Given the description of an element on the screen output the (x, y) to click on. 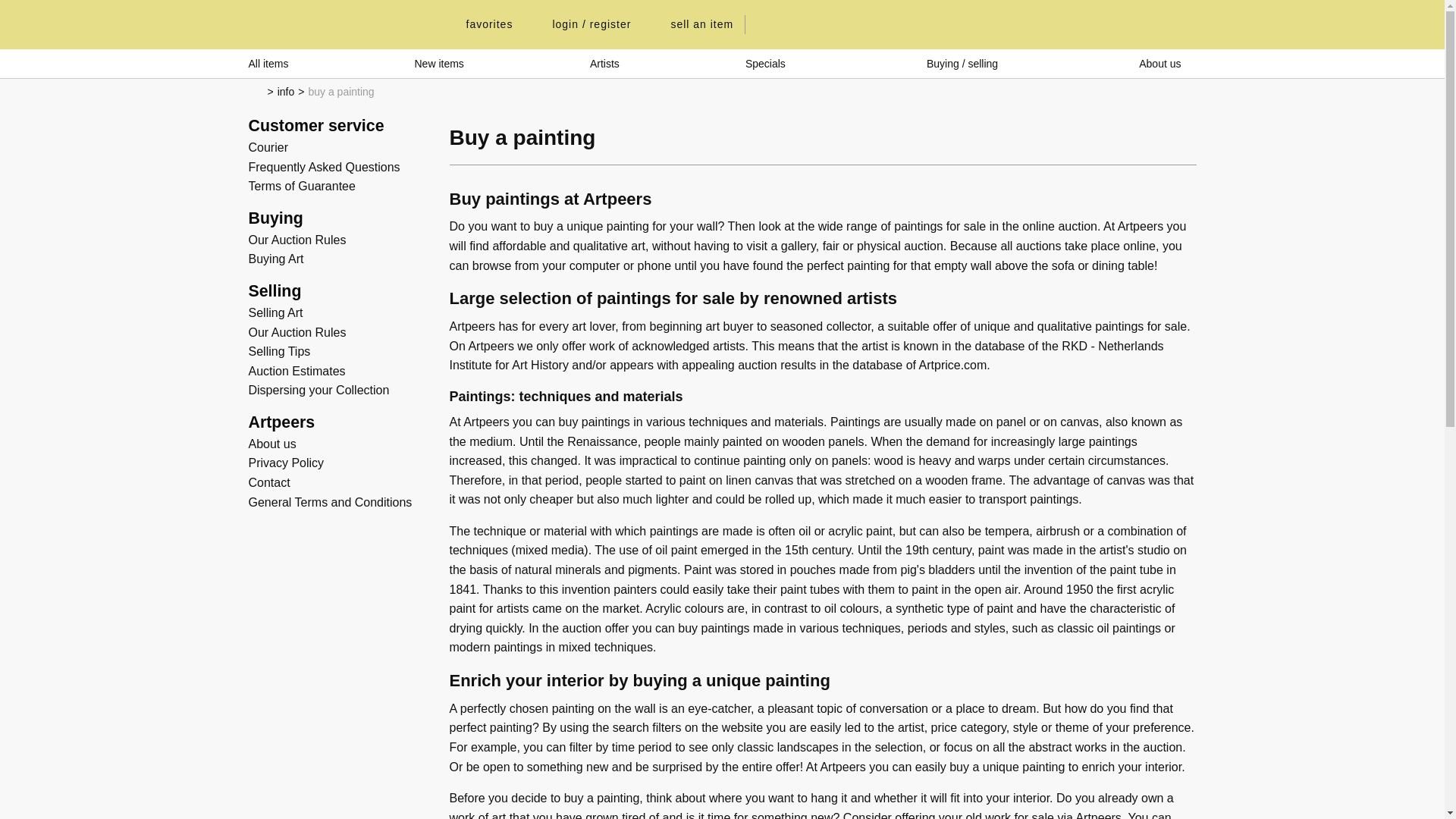
Selling Art (275, 312)
Buying Art (276, 258)
Artpeers (337, 24)
Frequently Asked Questions (324, 166)
artpeers (337, 24)
All items (268, 63)
Artists (604, 63)
Privacy Policy (286, 462)
About us (272, 443)
favorites (481, 24)
